Given the description of an element on the screen output the (x, y) to click on. 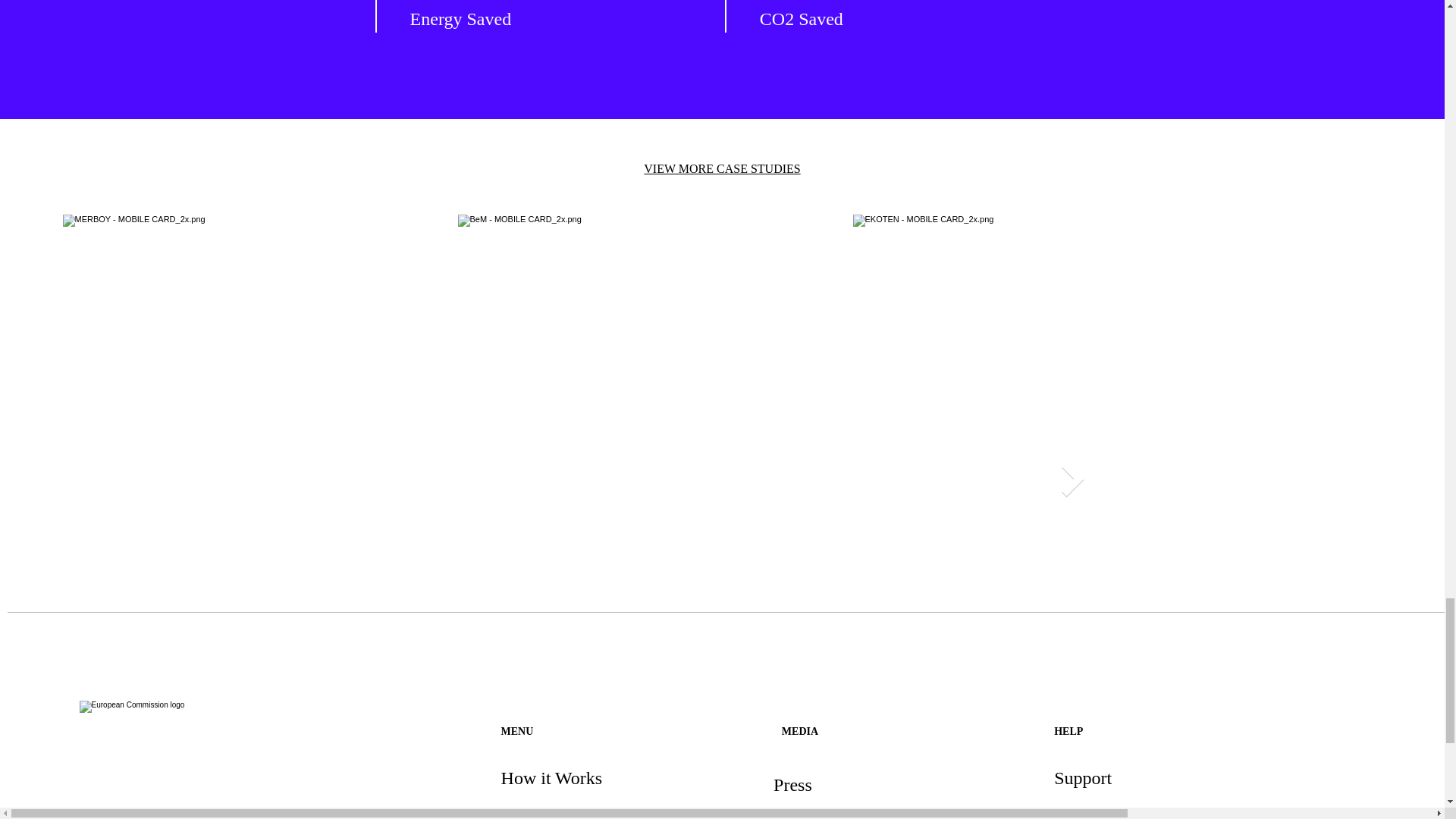
How it Works (551, 777)
Support (1083, 777)
Contact (1082, 811)
VIEW MORE CASE STUDIES (721, 168)
Impact (525, 811)
Press (792, 784)
